Given the description of an element on the screen output the (x, y) to click on. 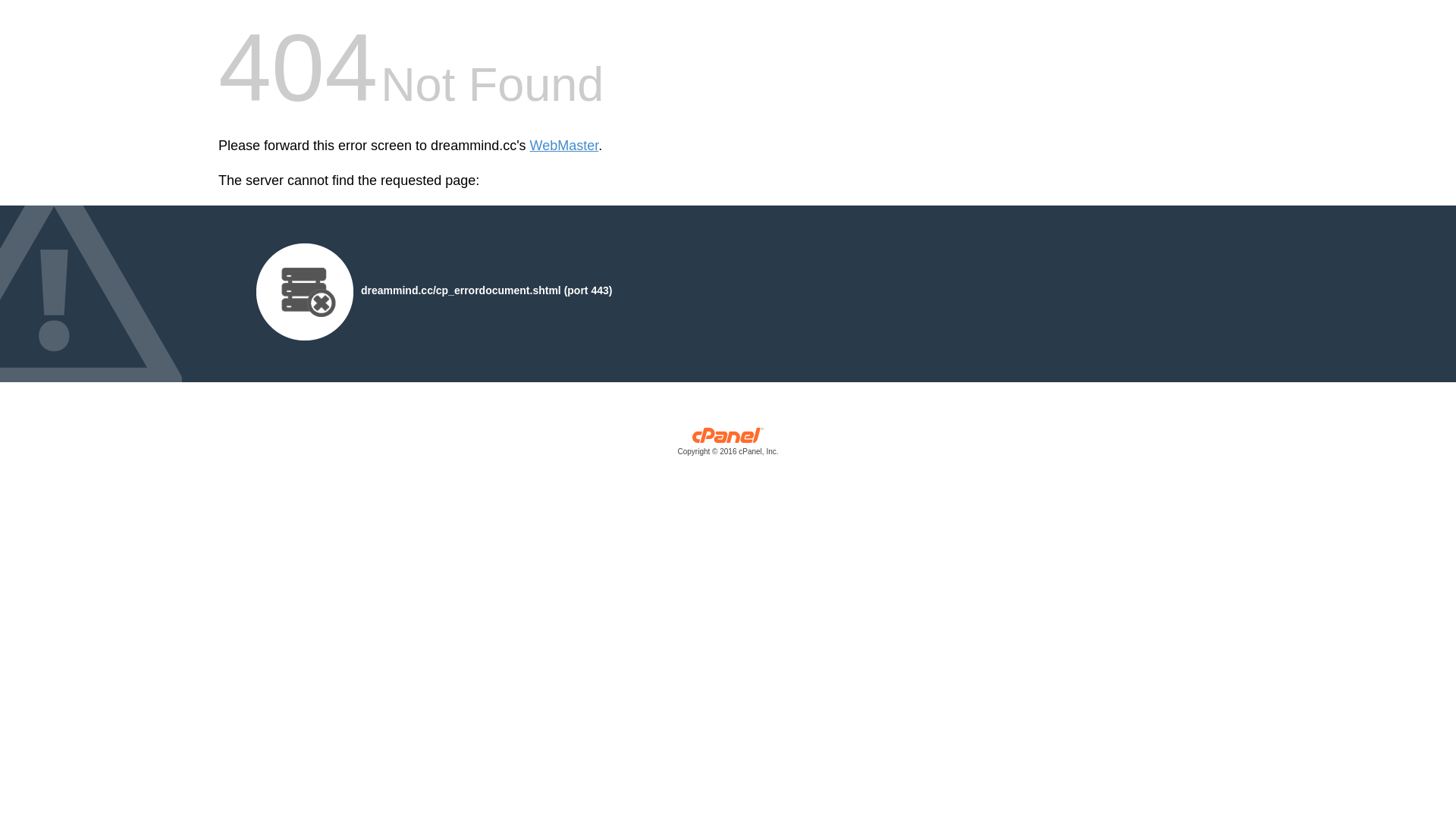
WebMaster Element type: text (564, 145)
